Given the description of an element on the screen output the (x, y) to click on. 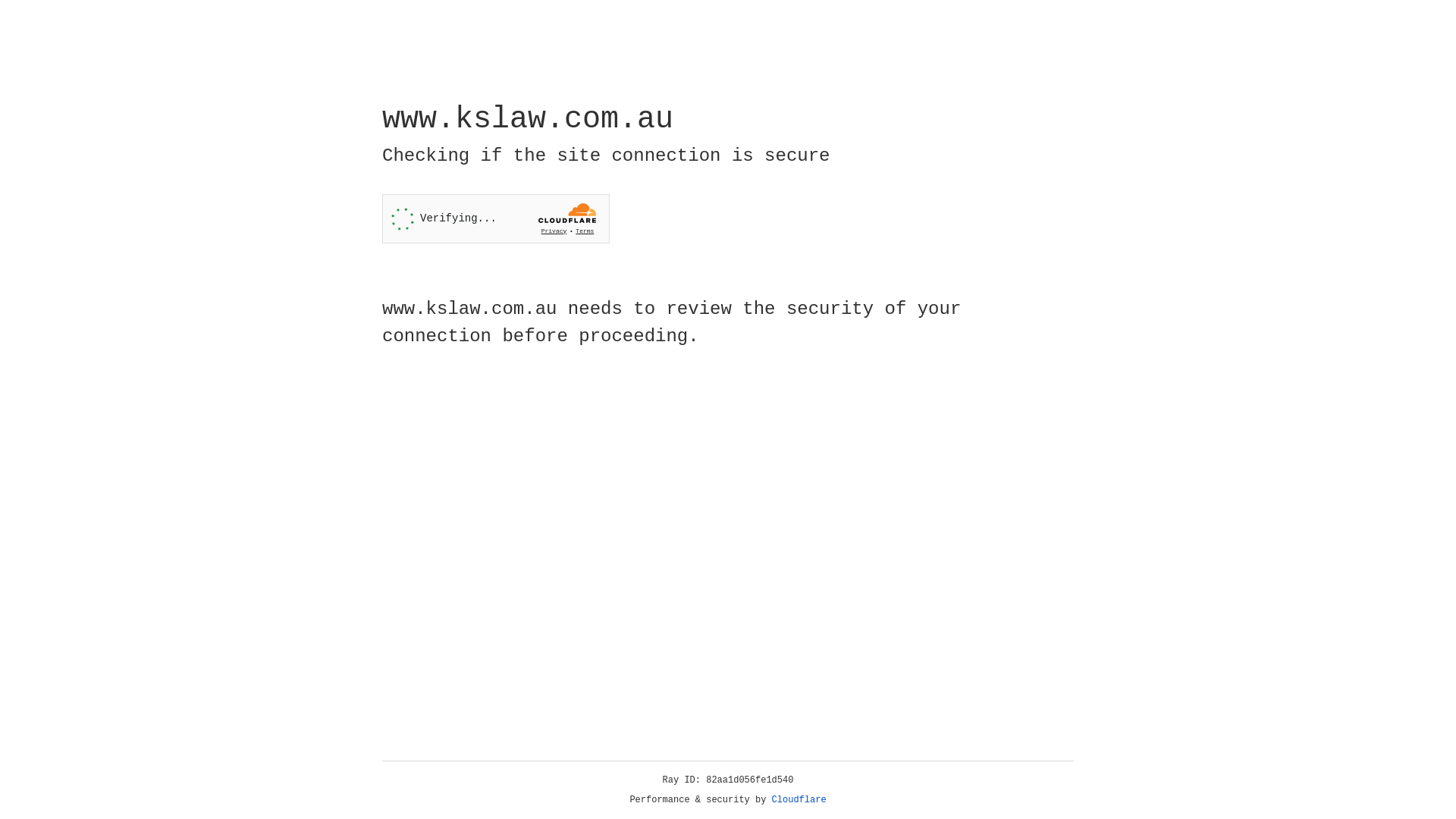
Cloudflare Element type: text (798, 799)
Widget containing a Cloudflare security challenge Element type: hover (495, 218)
